Given the description of an element on the screen output the (x, y) to click on. 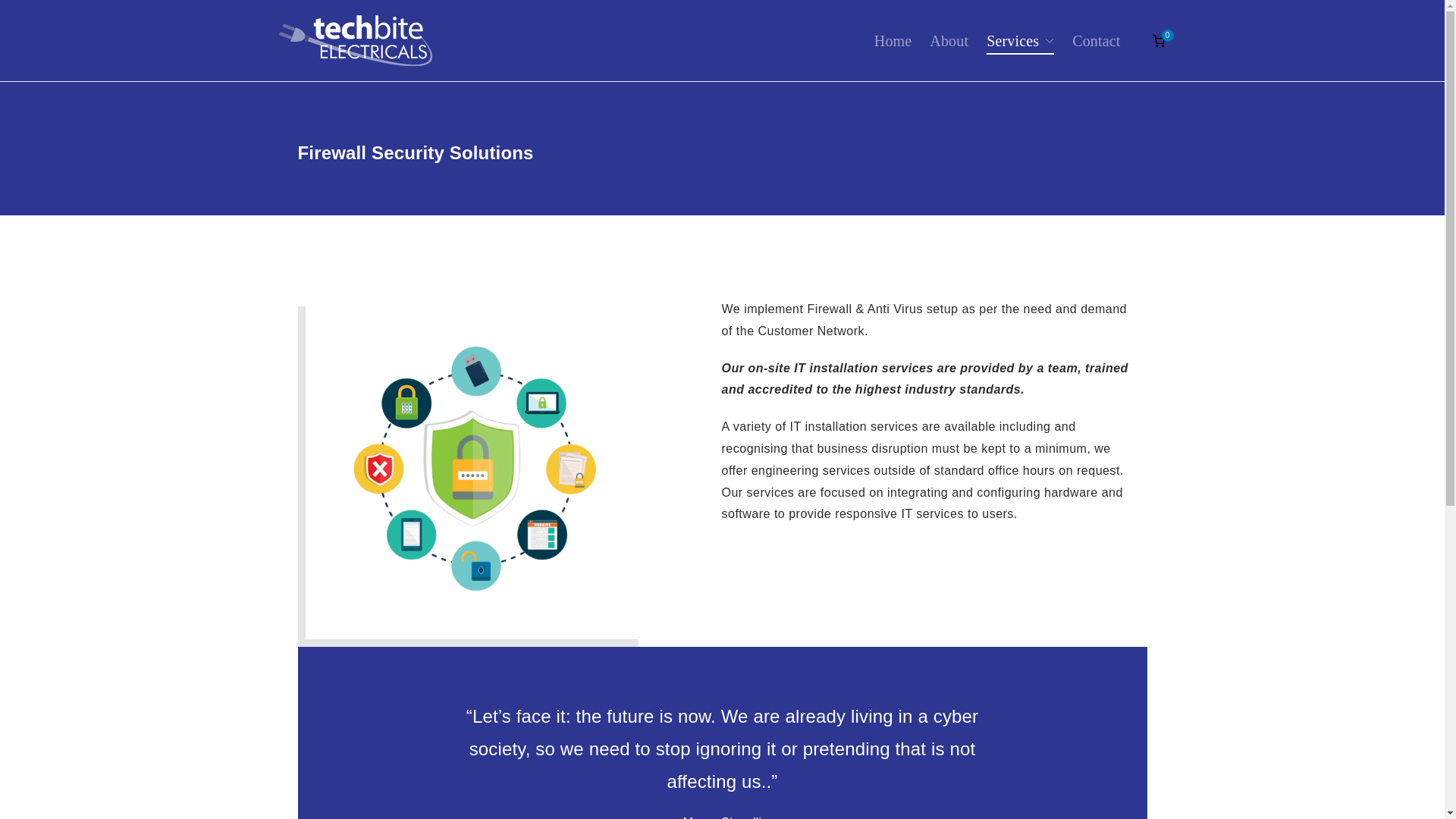
Services (1020, 40)
About (949, 40)
View your shopping cart (1158, 40)
Contact (1095, 40)
Home (893, 40)
Techbite Electricals (541, 55)
0 (1158, 40)
